Given the description of an element on the screen output the (x, y) to click on. 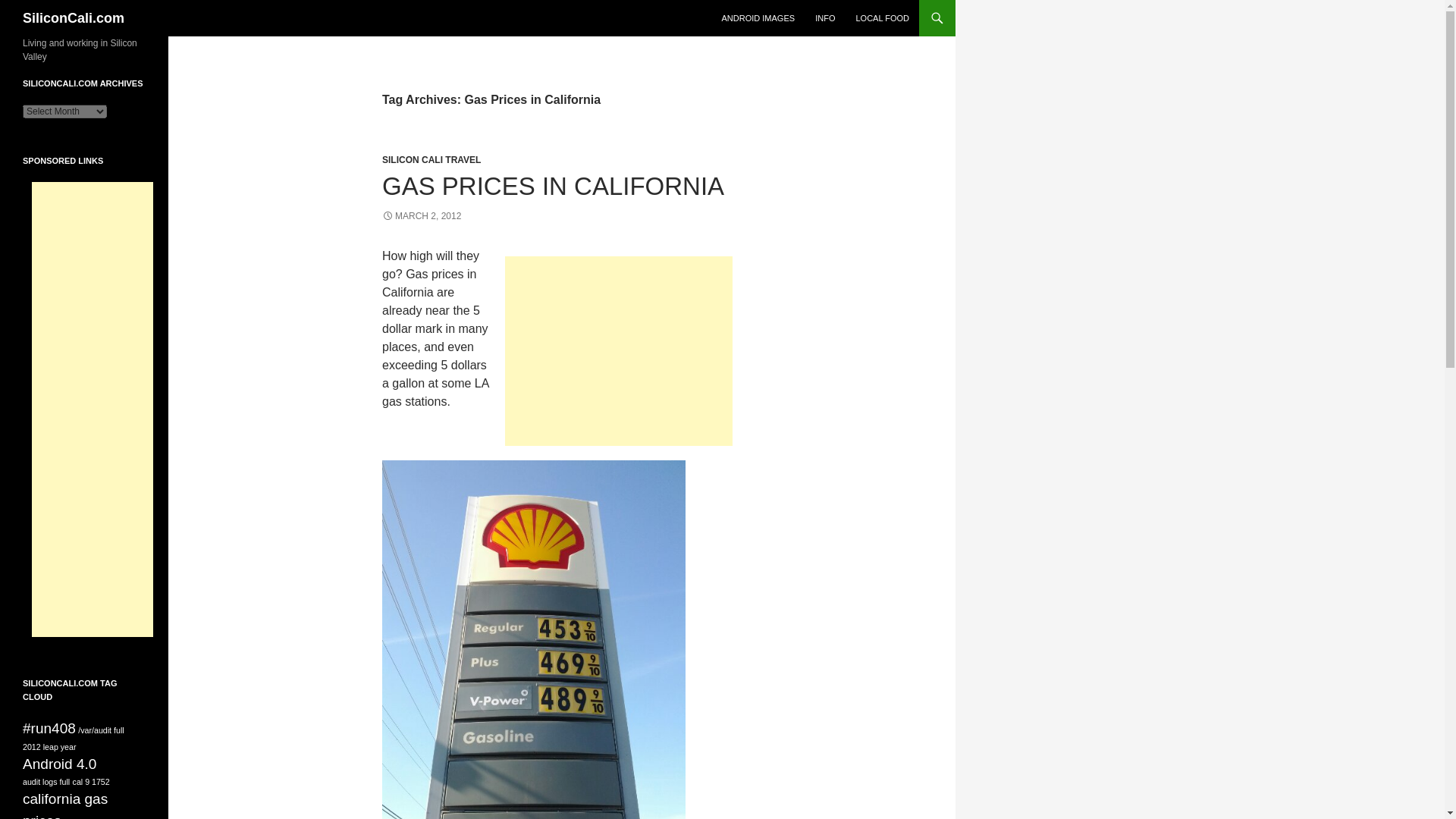
LOCAL FOOD (881, 18)
SiliconCali.com (73, 18)
INFO (825, 18)
SILICON CALI TRAVEL (430, 159)
Advertisement (618, 350)
california gas prices (65, 805)
audit logs full (46, 781)
GAS PRICES IN CALIFORNIA (552, 185)
MARCH 2, 2012 (421, 215)
cal 9 1752 (91, 781)
ANDROID IMAGES (759, 18)
2012 leap year (50, 746)
Android 4.0 (59, 763)
